Given the description of an element on the screen output the (x, y) to click on. 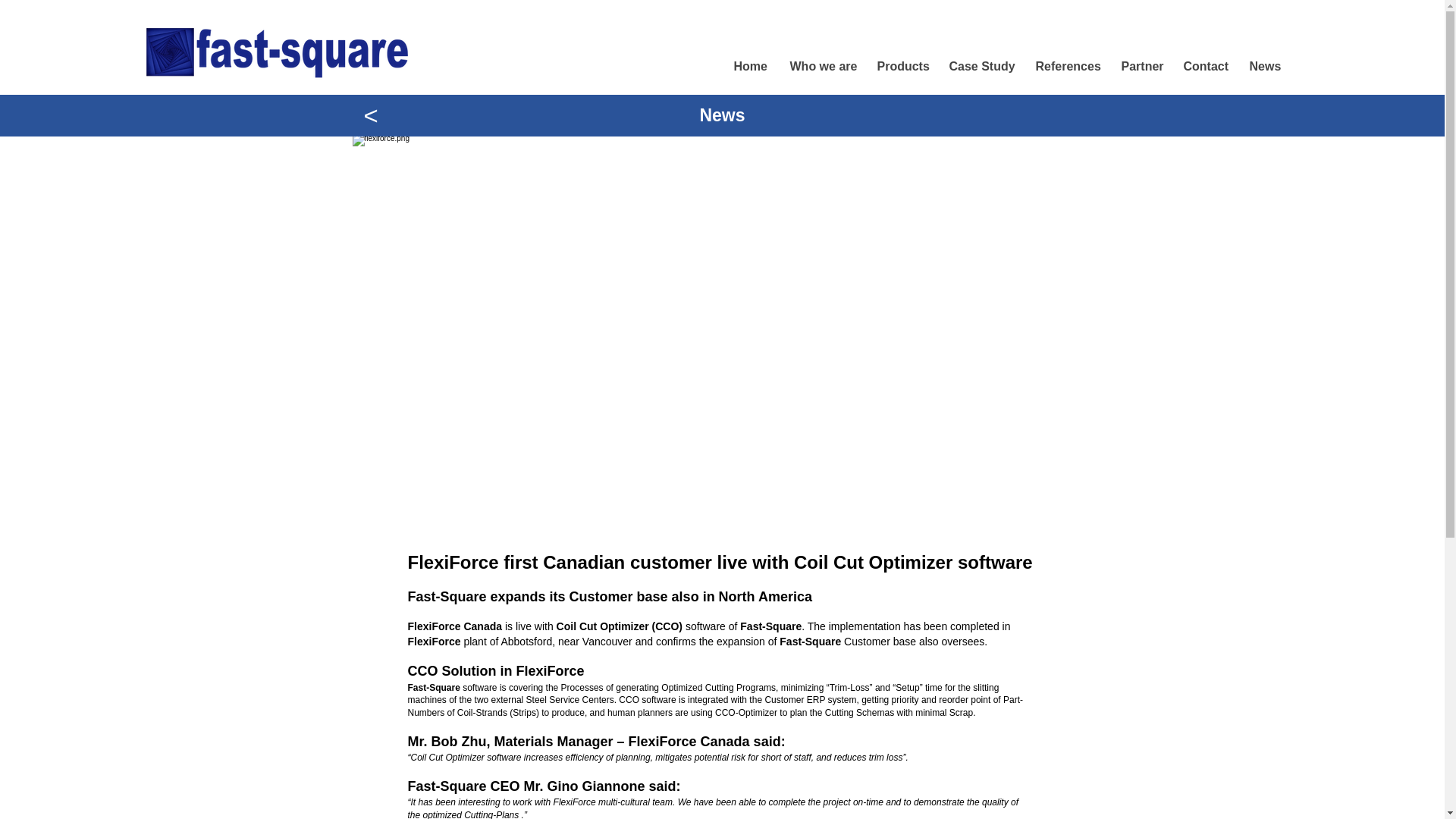
Who we are (820, 66)
Contact (1203, 66)
References (1066, 66)
News (1264, 66)
Home (749, 66)
Products (900, 66)
Partner (1139, 66)
Case Study (980, 66)
